Given the description of an element on the screen output the (x, y) to click on. 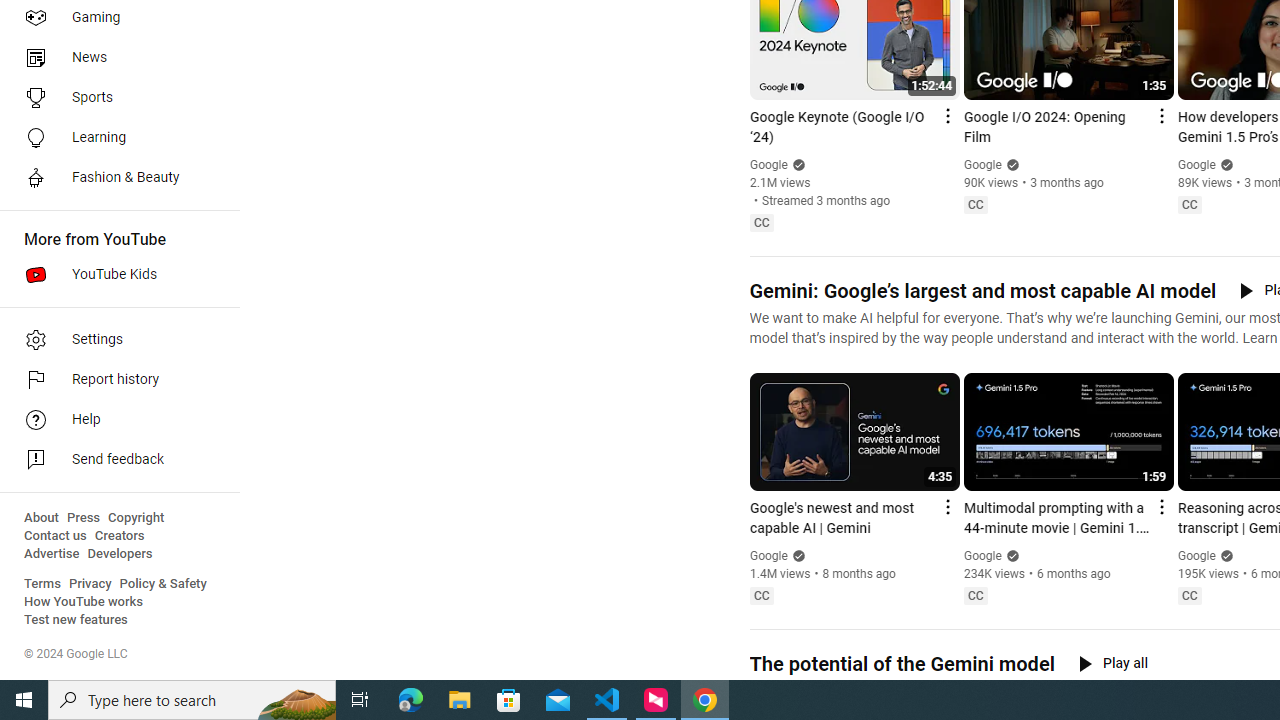
Fashion & Beauty (113, 177)
The potential of the Gemini model (901, 664)
Policy & Safety (163, 584)
Creators (118, 536)
Play all (1113, 663)
Test new features (76, 620)
Sports (113, 97)
Developers (120, 554)
